Given the description of an element on the screen output the (x, y) to click on. 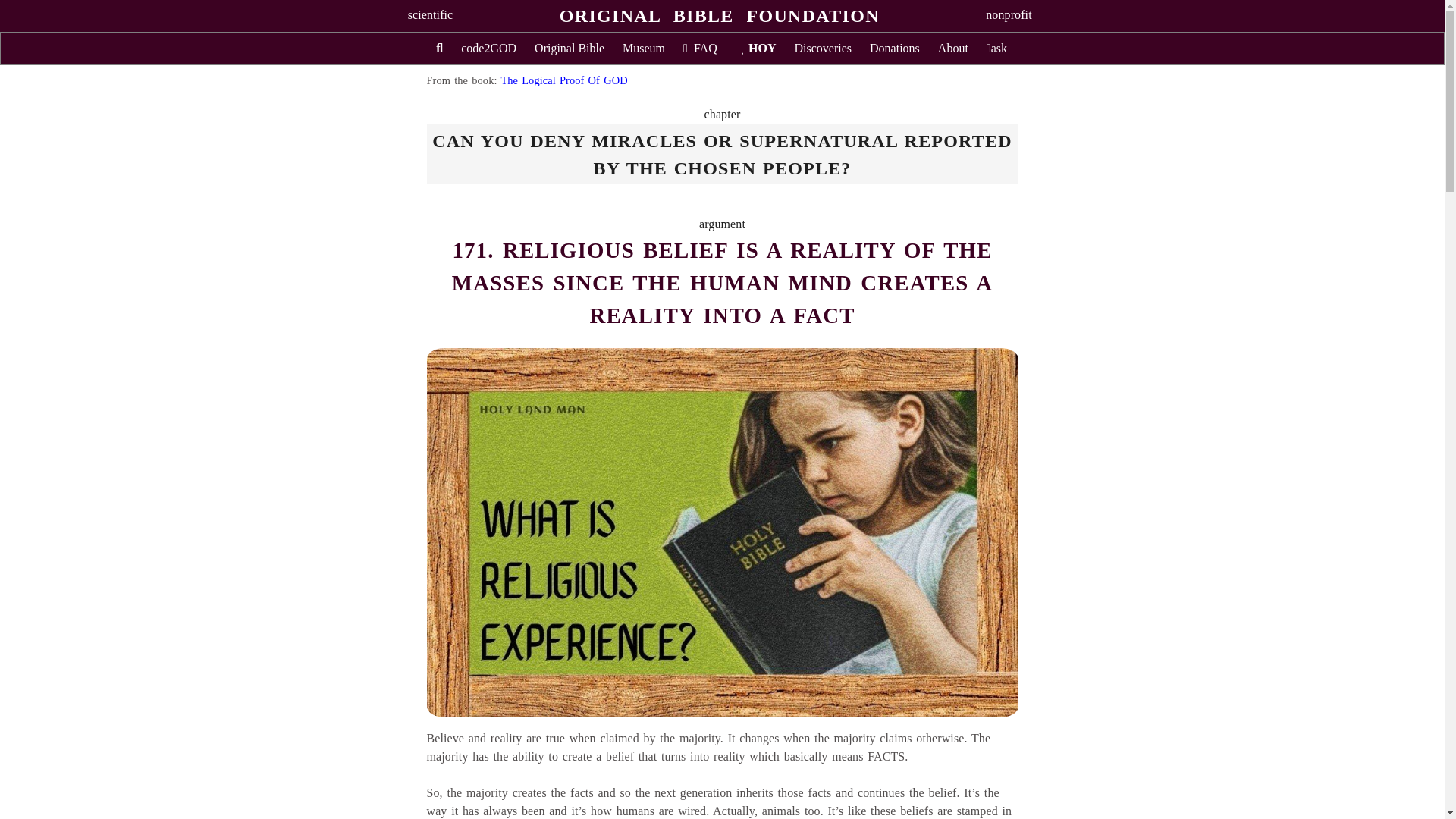
code2GOD (488, 48)
ORIGINAL BIBLE FOUNDATION (719, 15)
Original Bible (568, 48)
nonprofit (1007, 14)
scientific (429, 14)
